Given the description of an element on the screen output the (x, y) to click on. 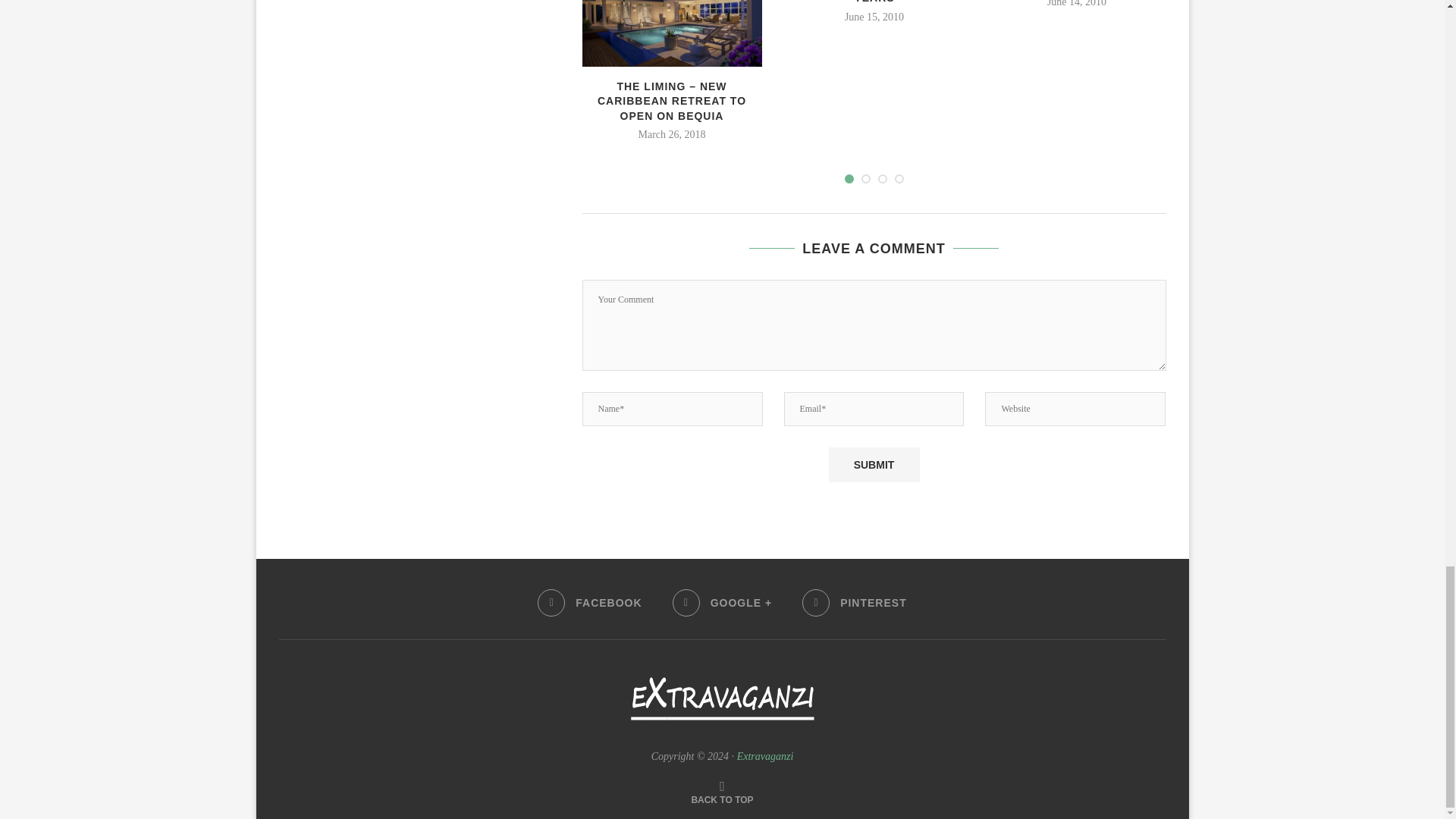
Submit (873, 464)
